Given the description of an element on the screen output the (x, y) to click on. 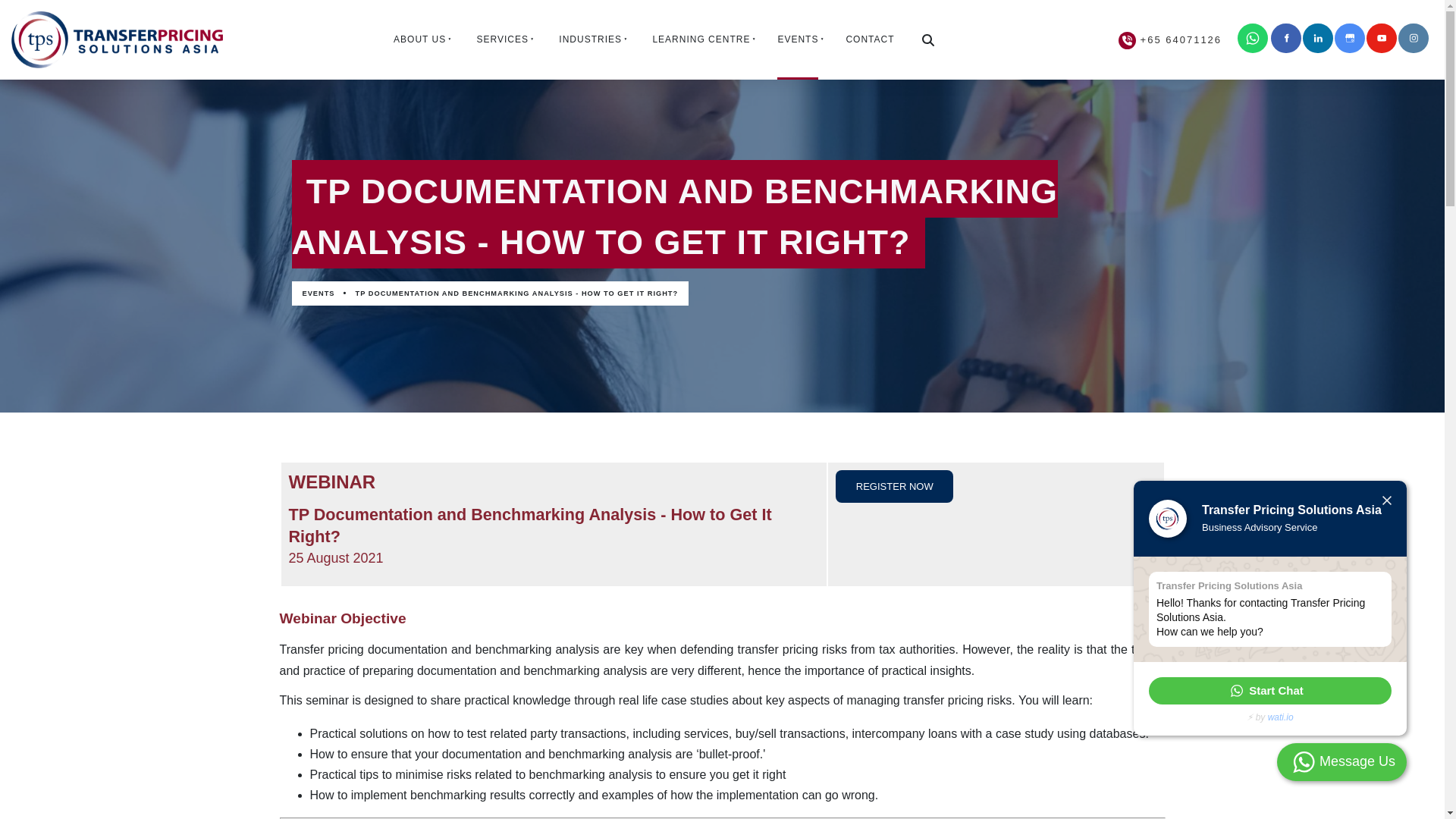
CONTACT (869, 39)
LinkedIn (1318, 38)
ABOUT US (418, 39)
Facebook (1286, 38)
EVENTS (796, 39)
Youtube (1381, 38)
INDUSTRIES (587, 39)
WhatsApp (1269, 690)
LEARNING CENTRE (698, 39)
Google My Business (1350, 38)
SERVICES (500, 39)
Instagram (1412, 38)
